Given the description of an element on the screen output the (x, y) to click on. 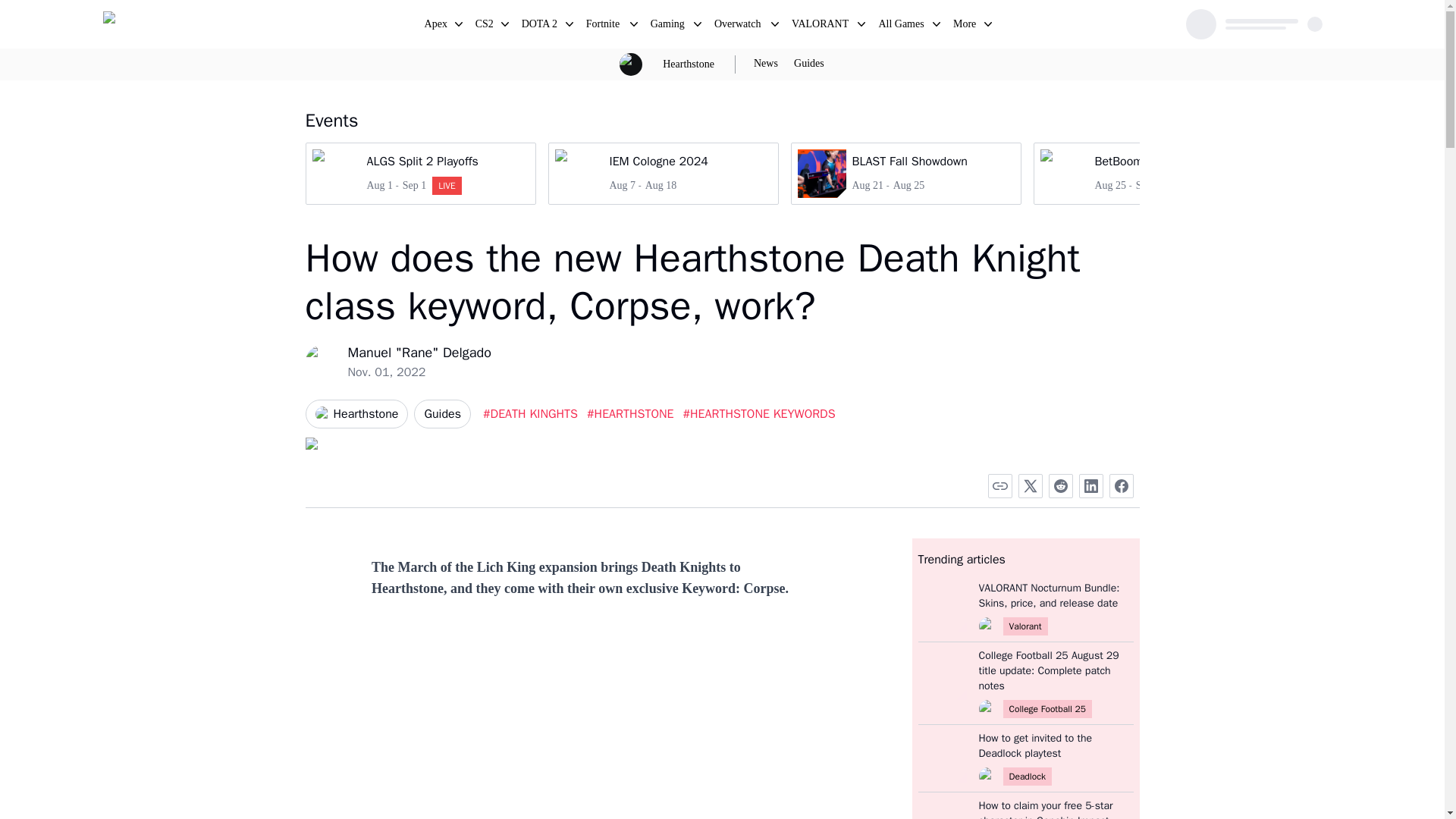
Apex (436, 25)
Overwatch (739, 25)
Overwatch (739, 25)
VALORANT (821, 25)
Hearthstone (688, 64)
DOTA 2 (540, 25)
Hearthstone (688, 64)
CS2 (485, 25)
Guides (441, 413)
